Given the description of an element on the screen output the (x, y) to click on. 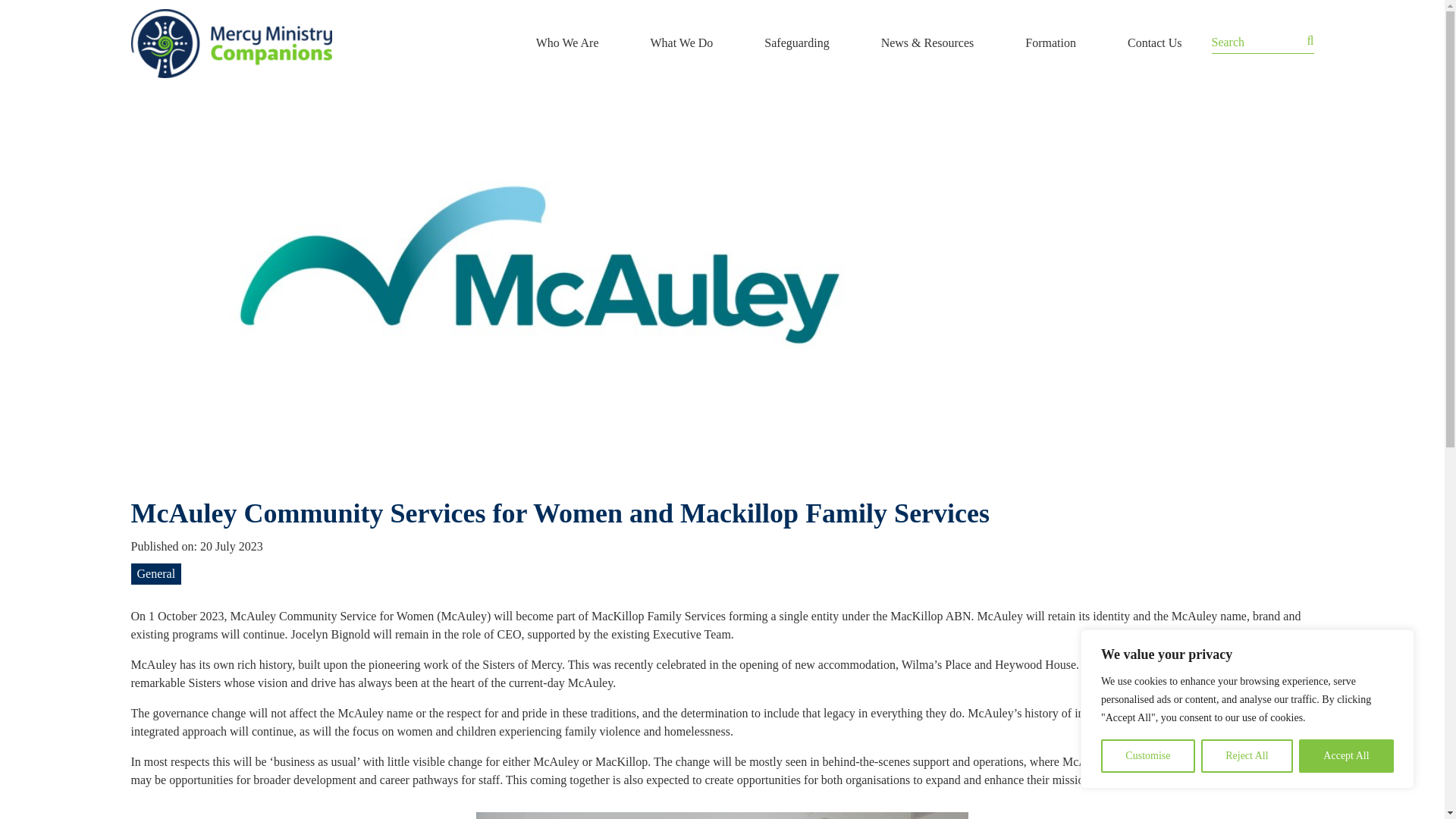
Accept All (1345, 756)
Customise (1147, 756)
Who We Are (567, 43)
Safeguarding (796, 43)
Formation (1050, 43)
Reject All (1246, 756)
What We Do (680, 43)
